Given the description of an element on the screen output the (x, y) to click on. 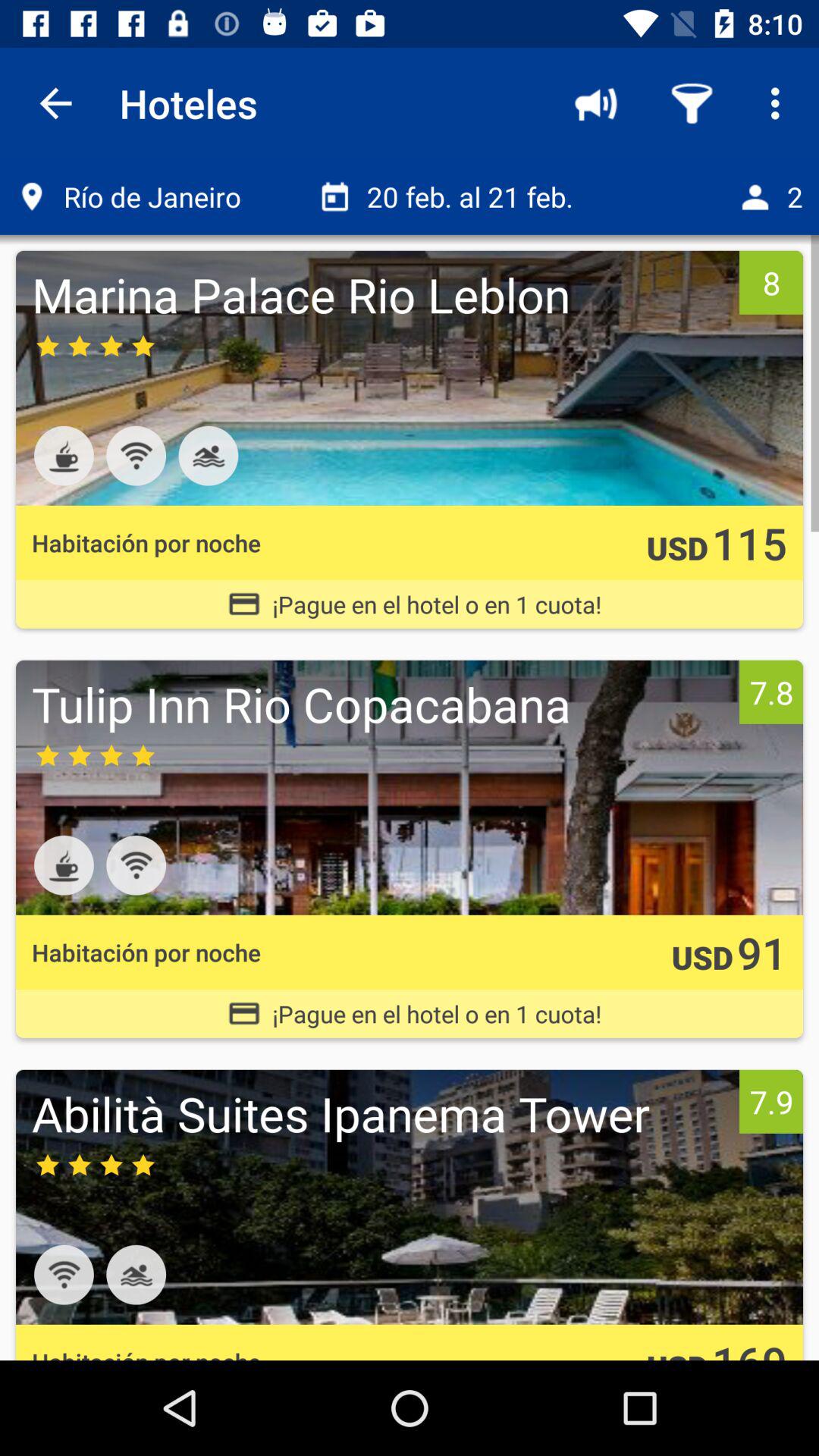
turn on the item below the pague en el icon (381, 703)
